Given the description of an element on the screen output the (x, y) to click on. 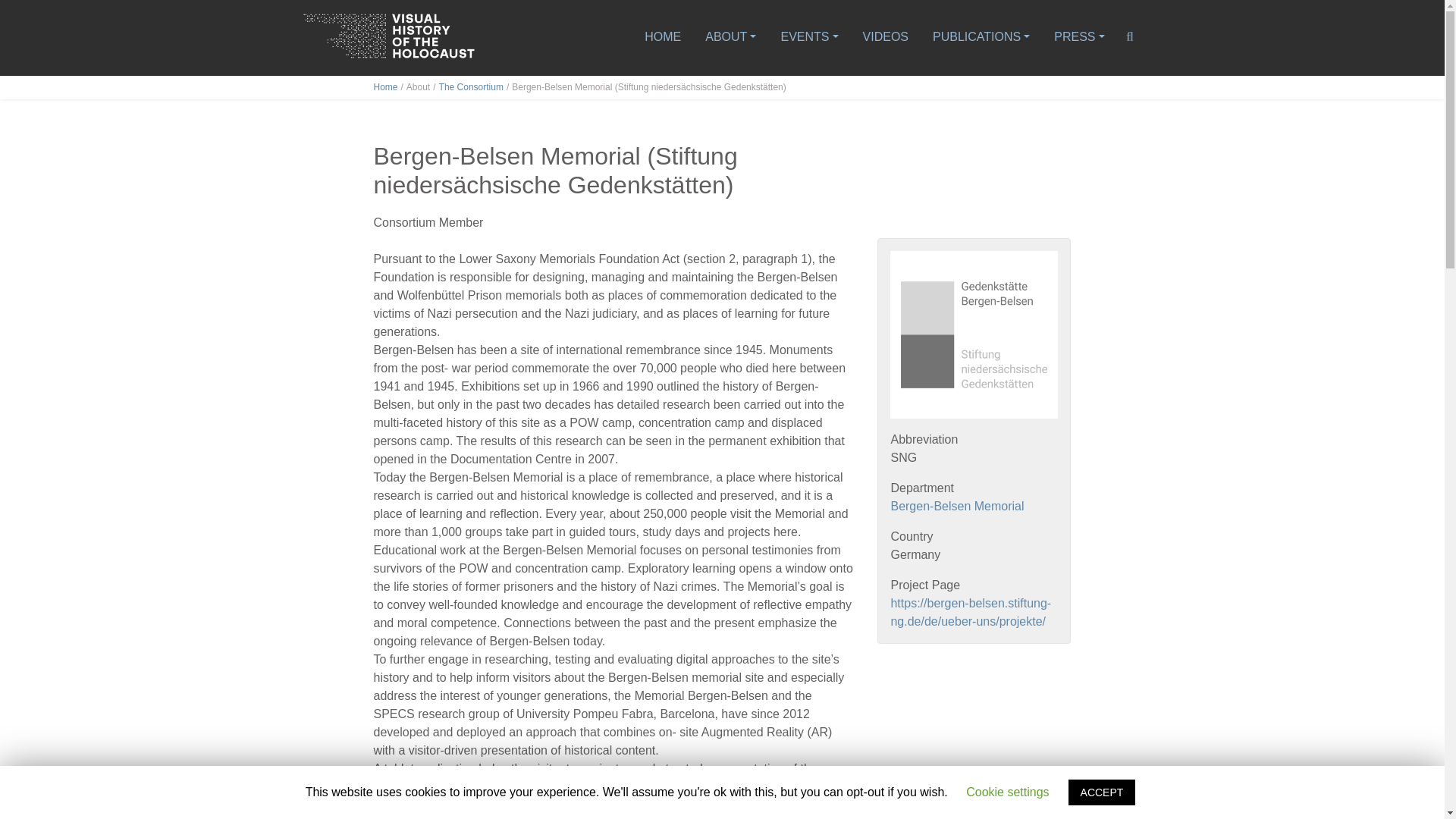
Home (663, 38)
EVENTS (809, 38)
VIDEOS (885, 38)
Home (384, 86)
ABOUT (729, 38)
HOME (663, 38)
Events (809, 38)
Videos (885, 38)
The Consortium (471, 86)
PRESS (1078, 38)
Publications (981, 38)
About (729, 38)
PUBLICATIONS (981, 38)
Bergen-Belsen Memorial (956, 505)
